Given the description of an element on the screen output the (x, y) to click on. 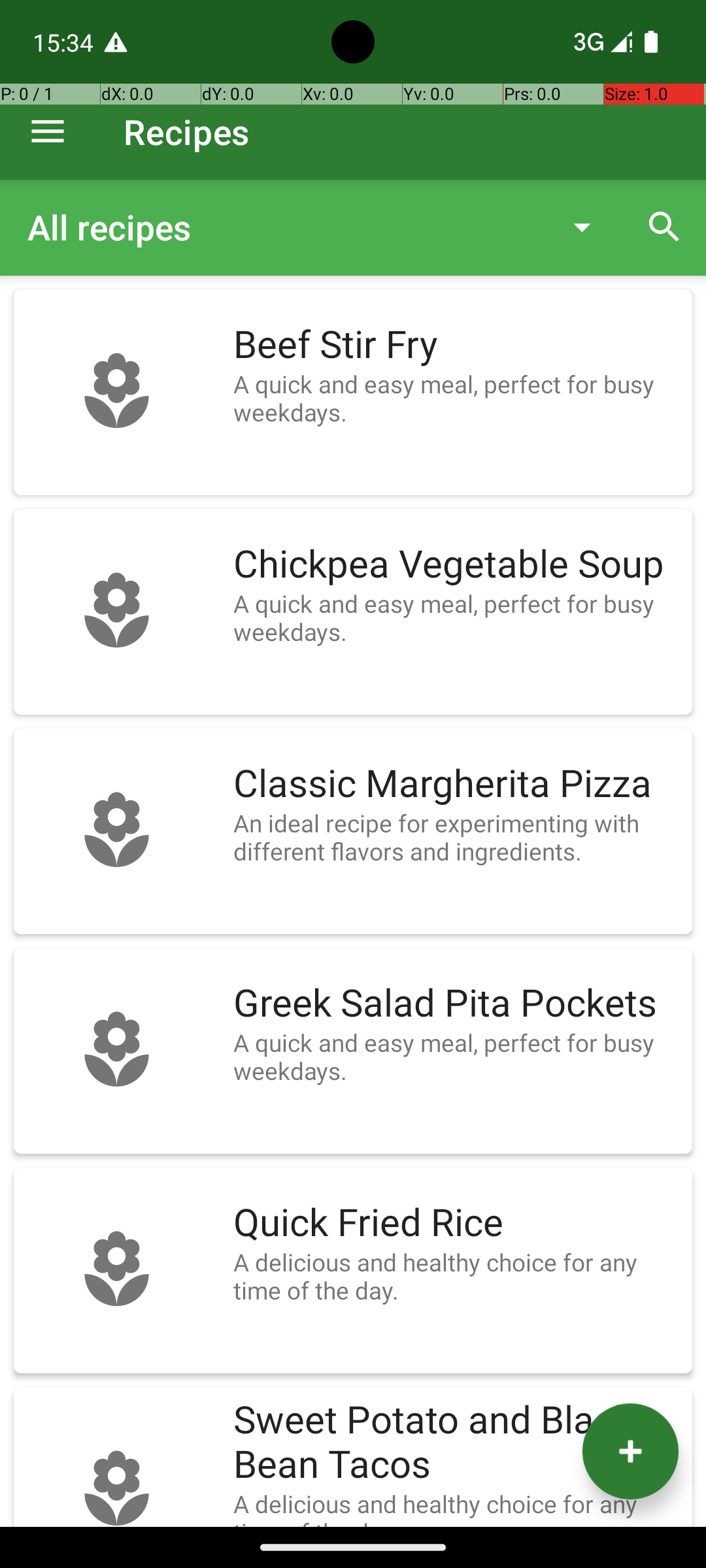
Chickpea Vegetable Soup Element type: android.widget.TextView (455, 564)
Classic Margherita Pizza Element type: android.widget.TextView (455, 783)
Greek Salad Pita Pockets Element type: android.widget.TextView (455, 1003)
Quick Fried Rice Element type: android.widget.TextView (455, 1222)
Sweet Potato and Black Bean Tacos Element type: android.widget.TextView (455, 1442)
